Given the description of an element on the screen output the (x, y) to click on. 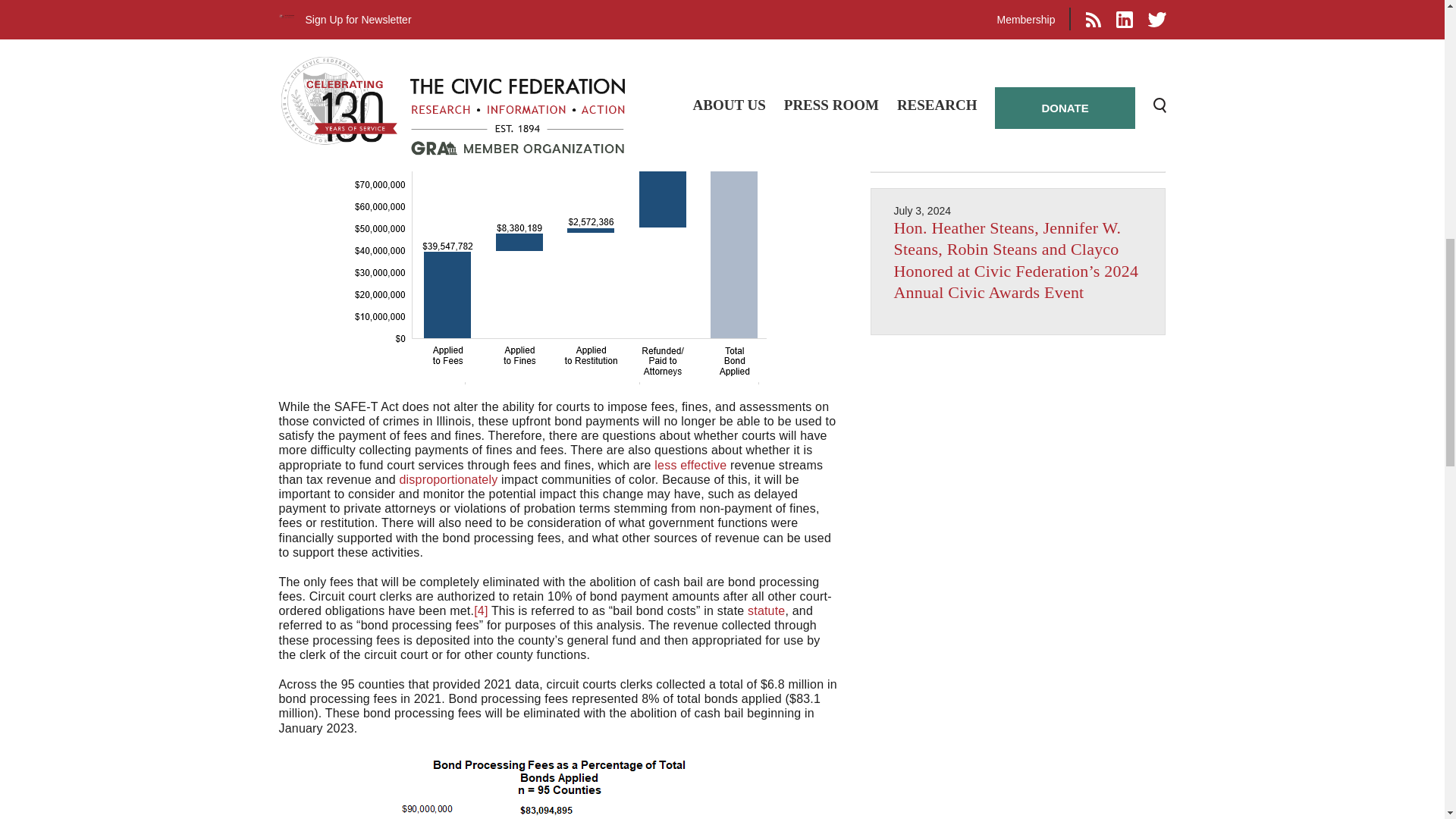
disproportionately (447, 479)
less effective (689, 464)
statute (766, 610)
